Given the description of an element on the screen output the (x, y) to click on. 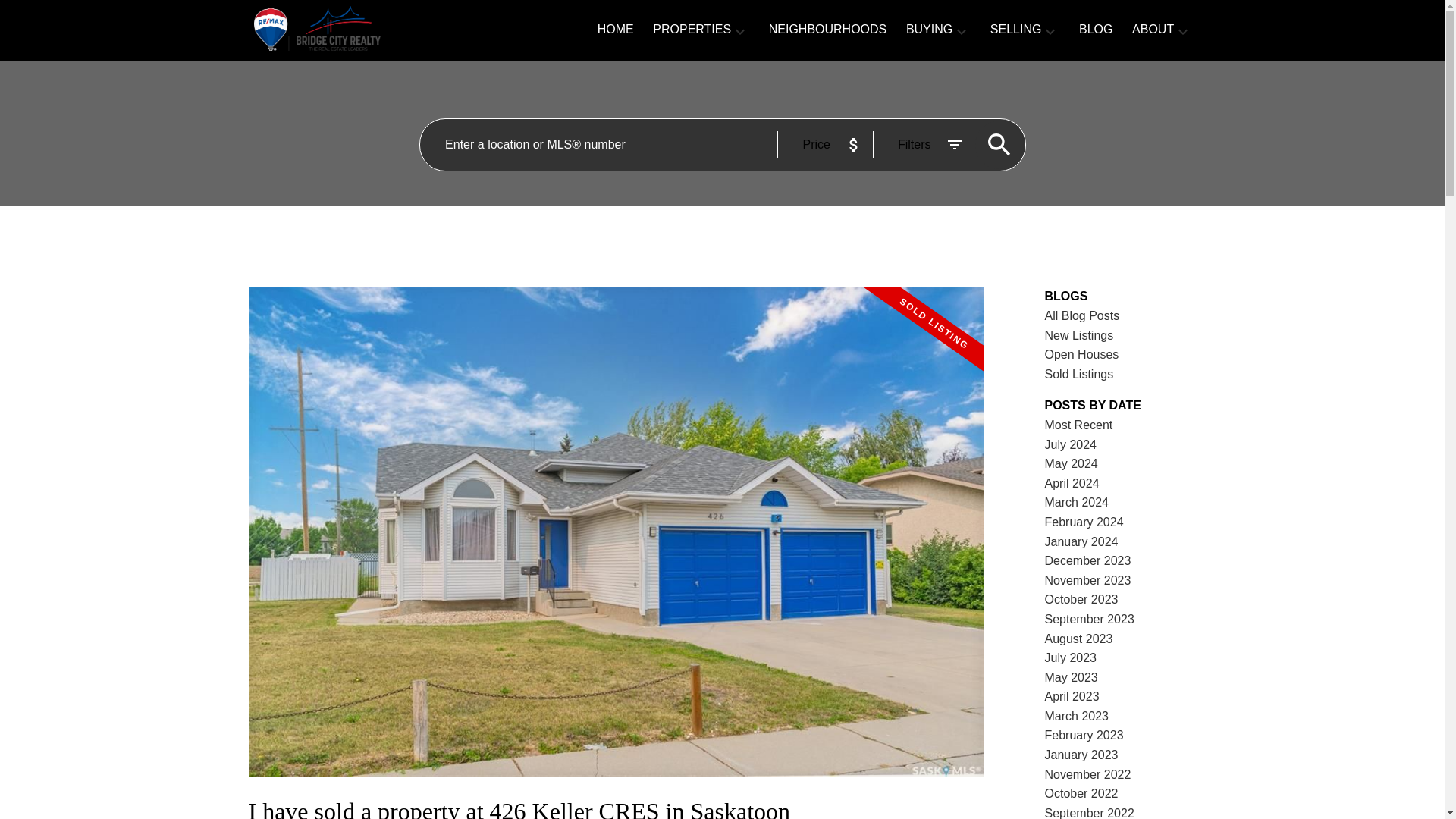
BLOG (1095, 30)
March 2024 (1077, 502)
May 2024 (1071, 463)
April 2024 (1072, 482)
New Listings (1079, 335)
Open Houses (1082, 354)
NEIGHBOURHOODS (827, 30)
October 2023 (1081, 599)
July 2024 (1071, 444)
January 2024 (1081, 541)
All Blog Posts (1082, 315)
Most Recent (1079, 424)
September 2023 (1089, 618)
February 2024 (1084, 521)
November 2023 (1088, 580)
